Given the description of an element on the screen output the (x, y) to click on. 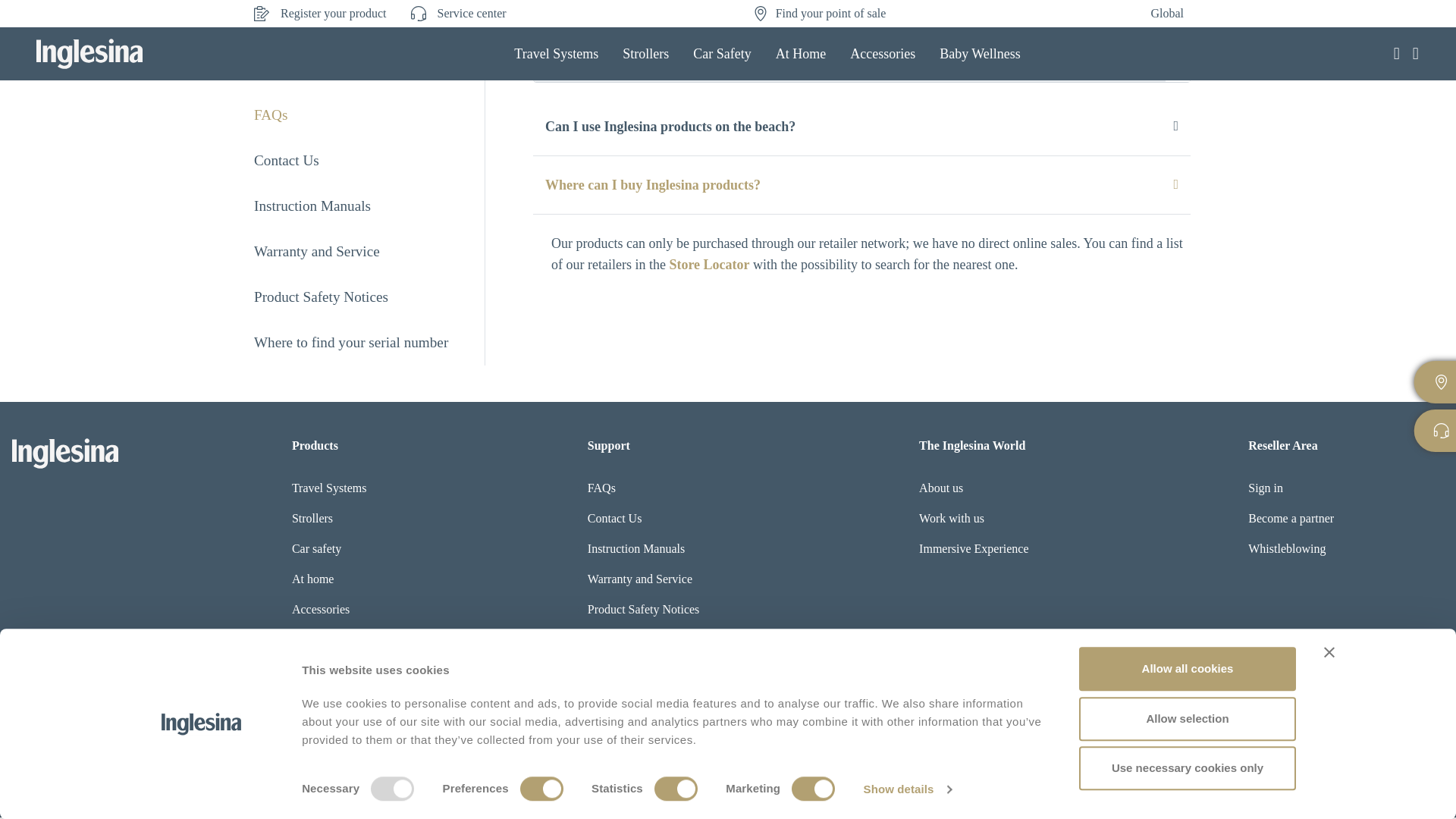
Allow selection (1186, 718)
Allow all cookies (1186, 669)
